Given the description of an element on the screen output the (x, y) to click on. 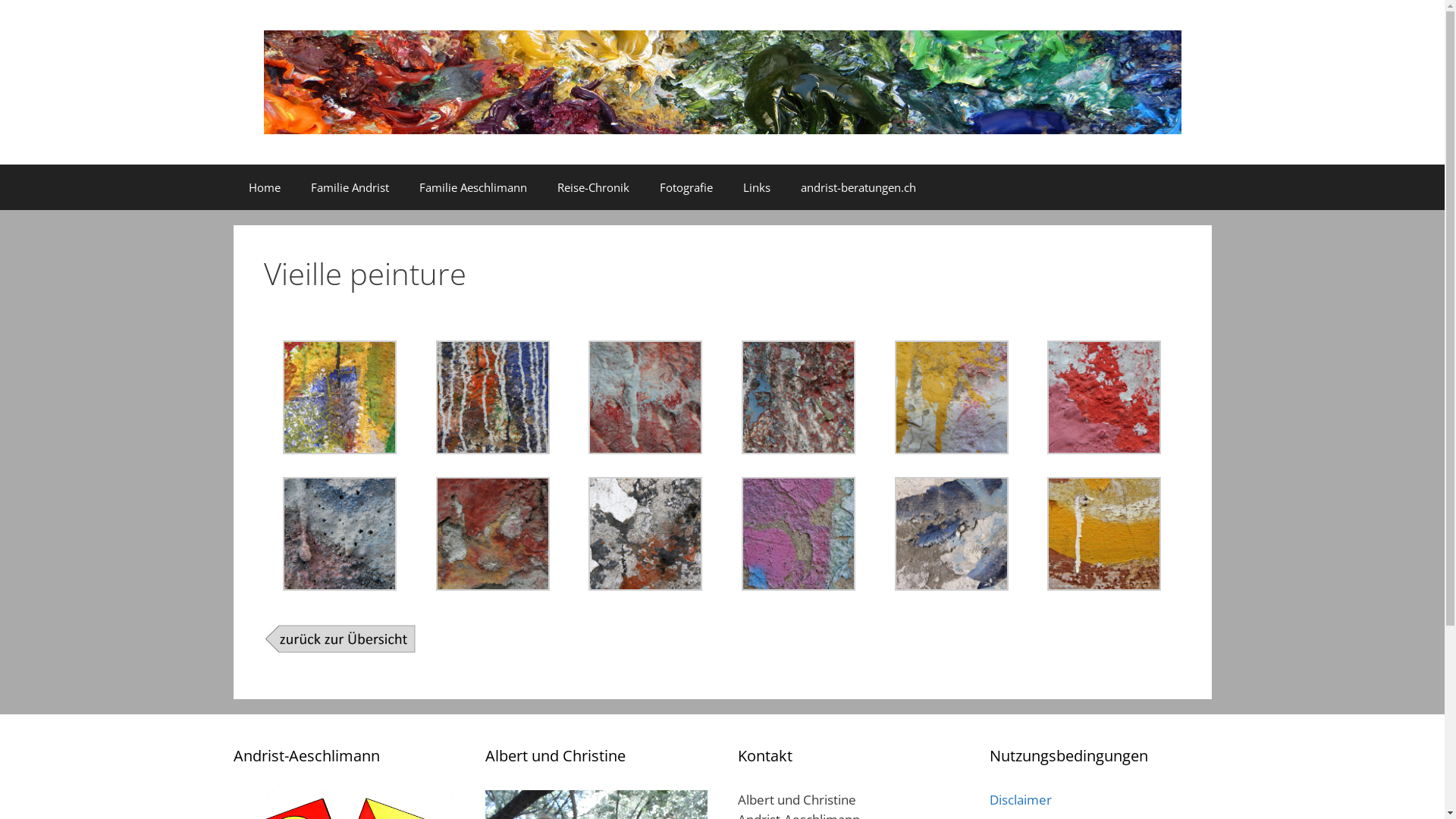
andrist-beratungen.ch Element type: text (858, 187)
Disclaimer Element type: text (1020, 799)
Familie Aeschlimann Element type: text (472, 187)
Home Element type: text (264, 187)
Links Element type: text (756, 187)
Reise-Chronik Element type: text (592, 187)
Fotografie Element type: text (686, 187)
Familie Andrist Element type: text (349, 187)
